Given the description of an element on the screen output the (x, y) to click on. 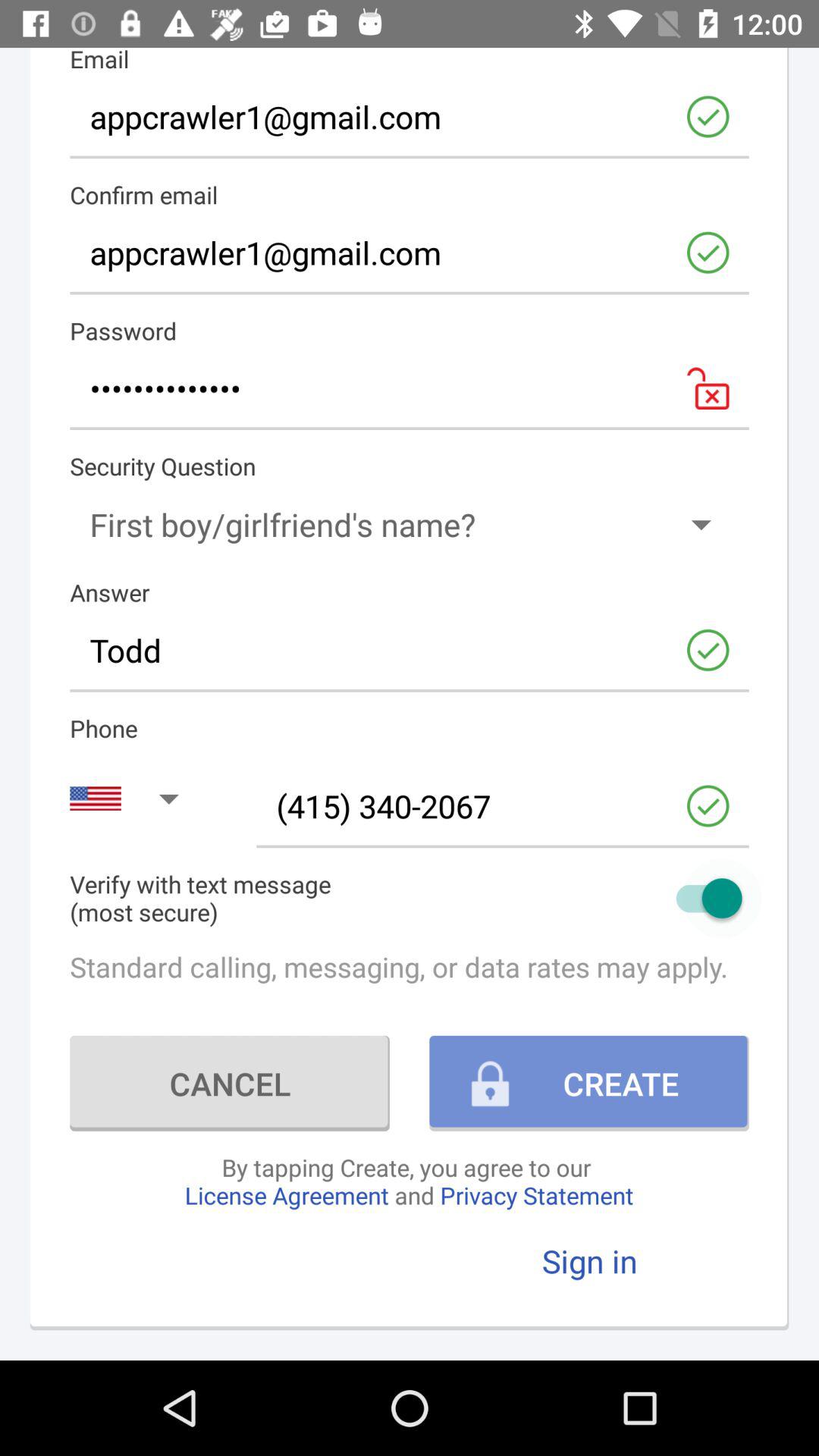
press the item below cancel icon (408, 1181)
